Given the description of an element on the screen output the (x, y) to click on. 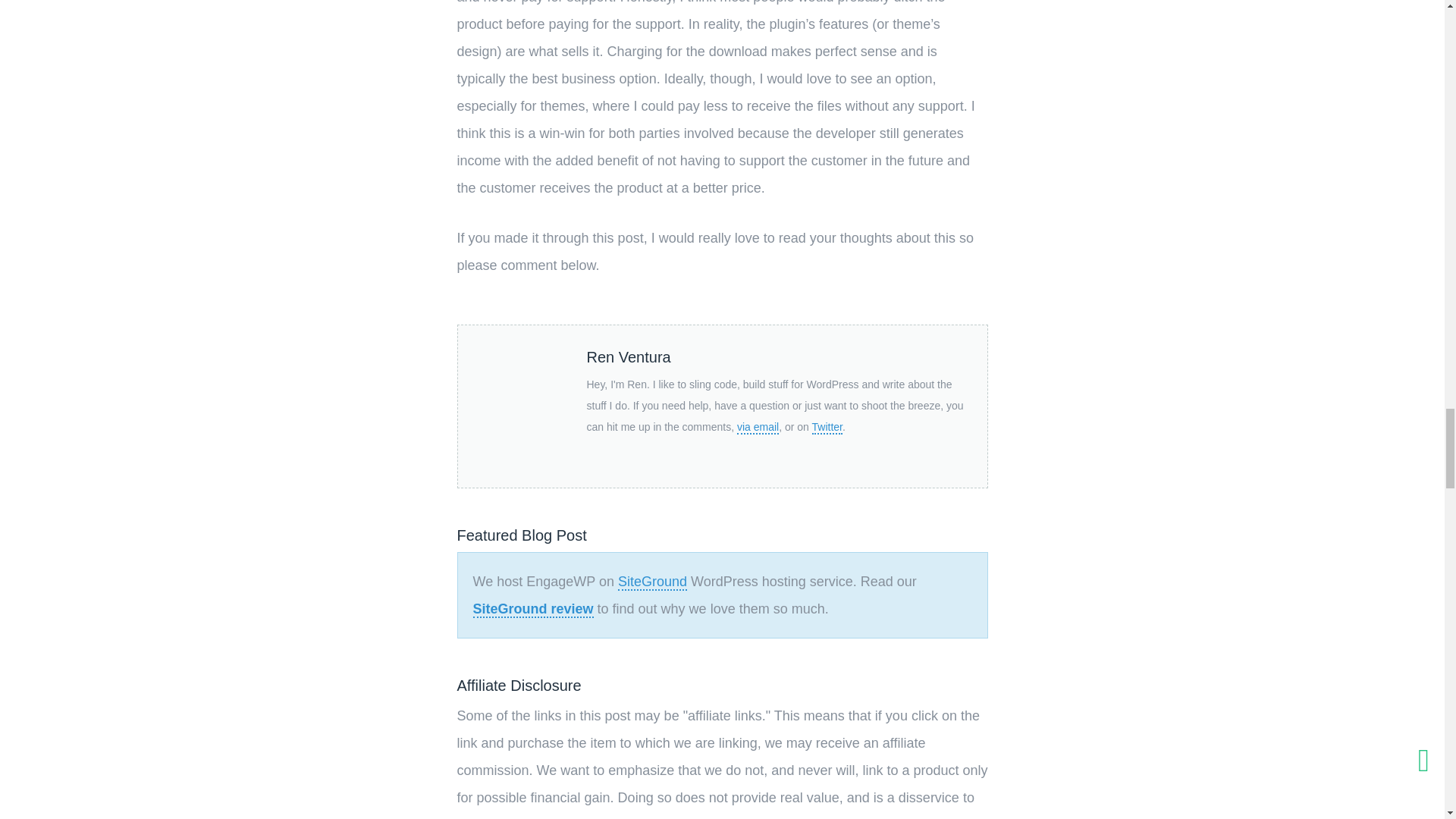
SiteGround review (533, 609)
Twitter (827, 427)
SiteGround (652, 582)
via email (757, 427)
